Given the description of an element on the screen output the (x, y) to click on. 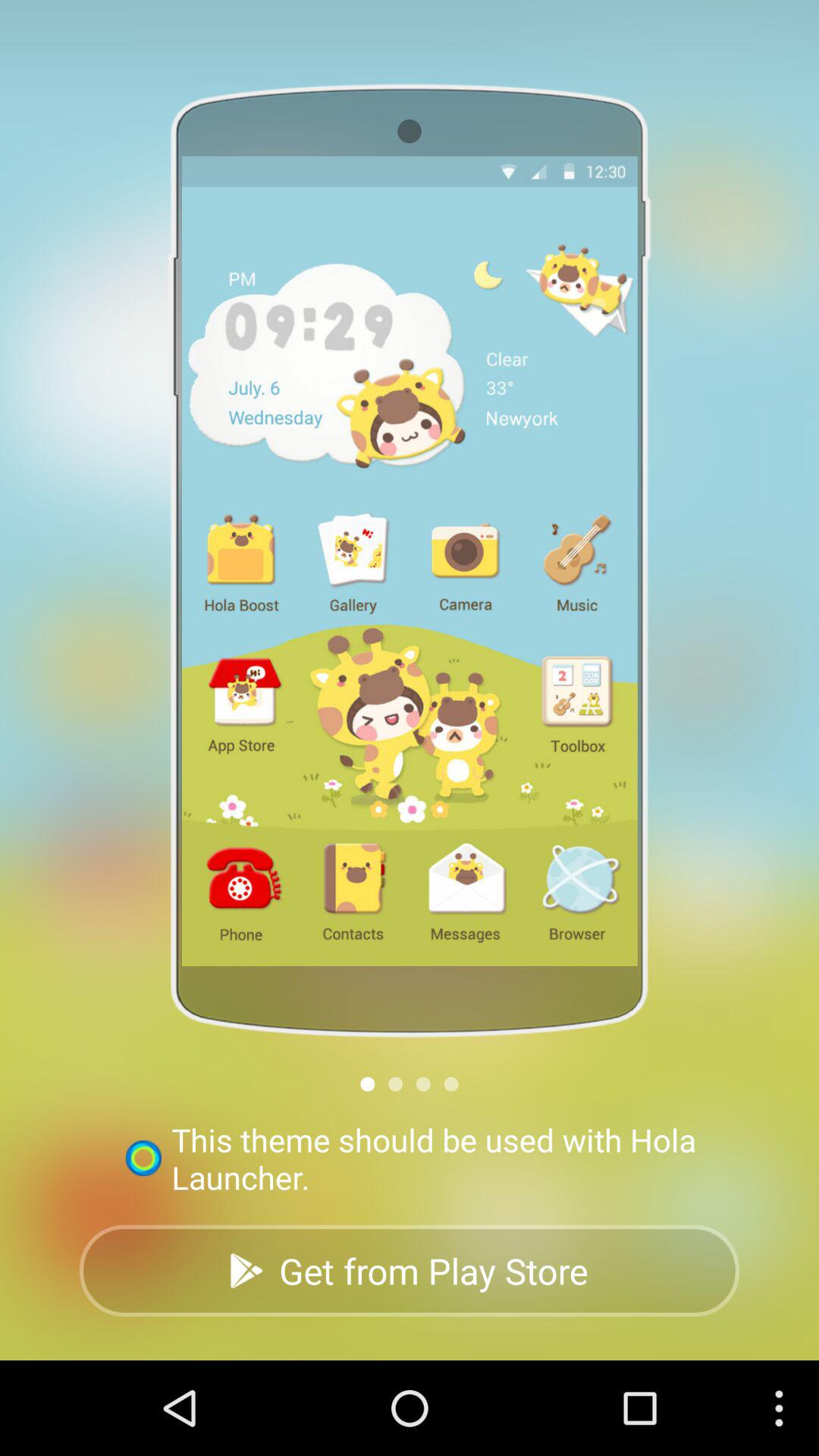
press icon above this theme should icon (423, 1084)
